Given the description of an element on the screen output the (x, y) to click on. 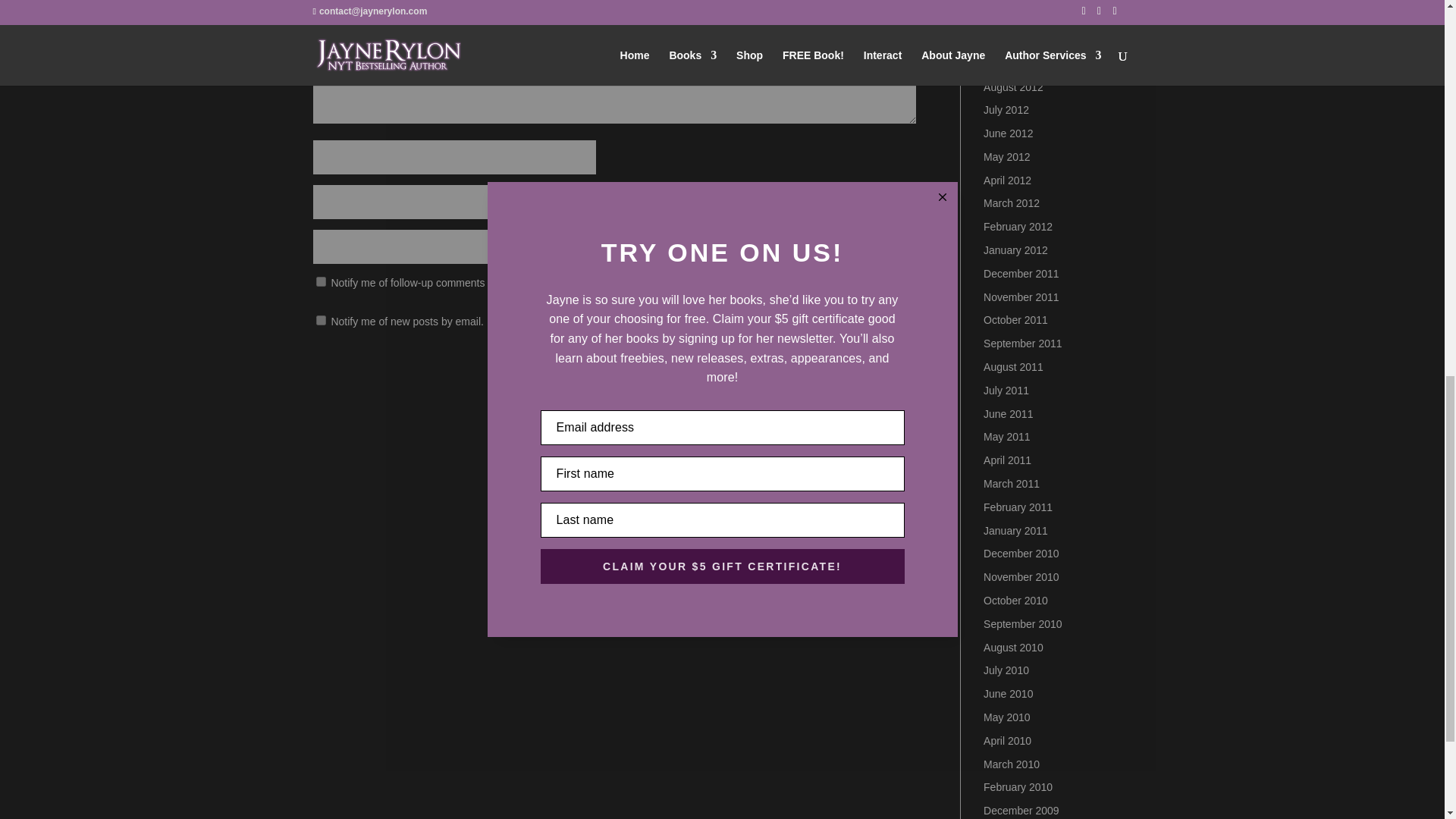
Submit Comment (840, 371)
subscribe (319, 281)
Submit Comment (840, 371)
subscribe (319, 320)
